Given the description of an element on the screen output the (x, y) to click on. 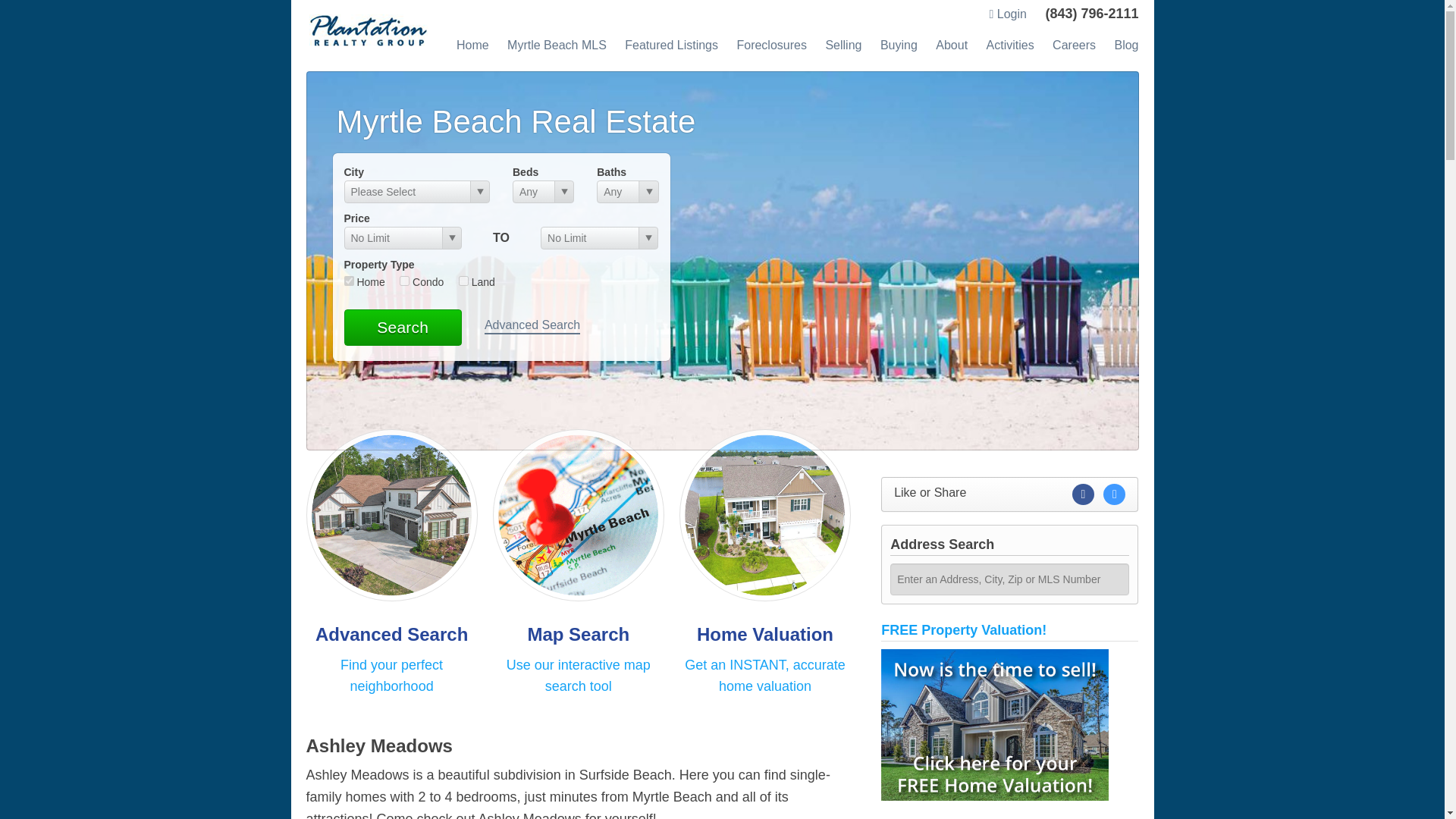
Foreclosures (771, 44)
What's My Home Worth? (764, 513)
con (403, 280)
Like or Share (1009, 493)
Advanced Search (531, 326)
Home Valuation (764, 634)
Interactive Map Search (578, 513)
Careers (1074, 44)
Search (402, 327)
About (952, 44)
Advanced Search (391, 513)
Myrtle Beach MLS (556, 44)
Buying (898, 44)
Advanced Search (391, 634)
Featured Listings (670, 44)
